Given the description of an element on the screen output the (x, y) to click on. 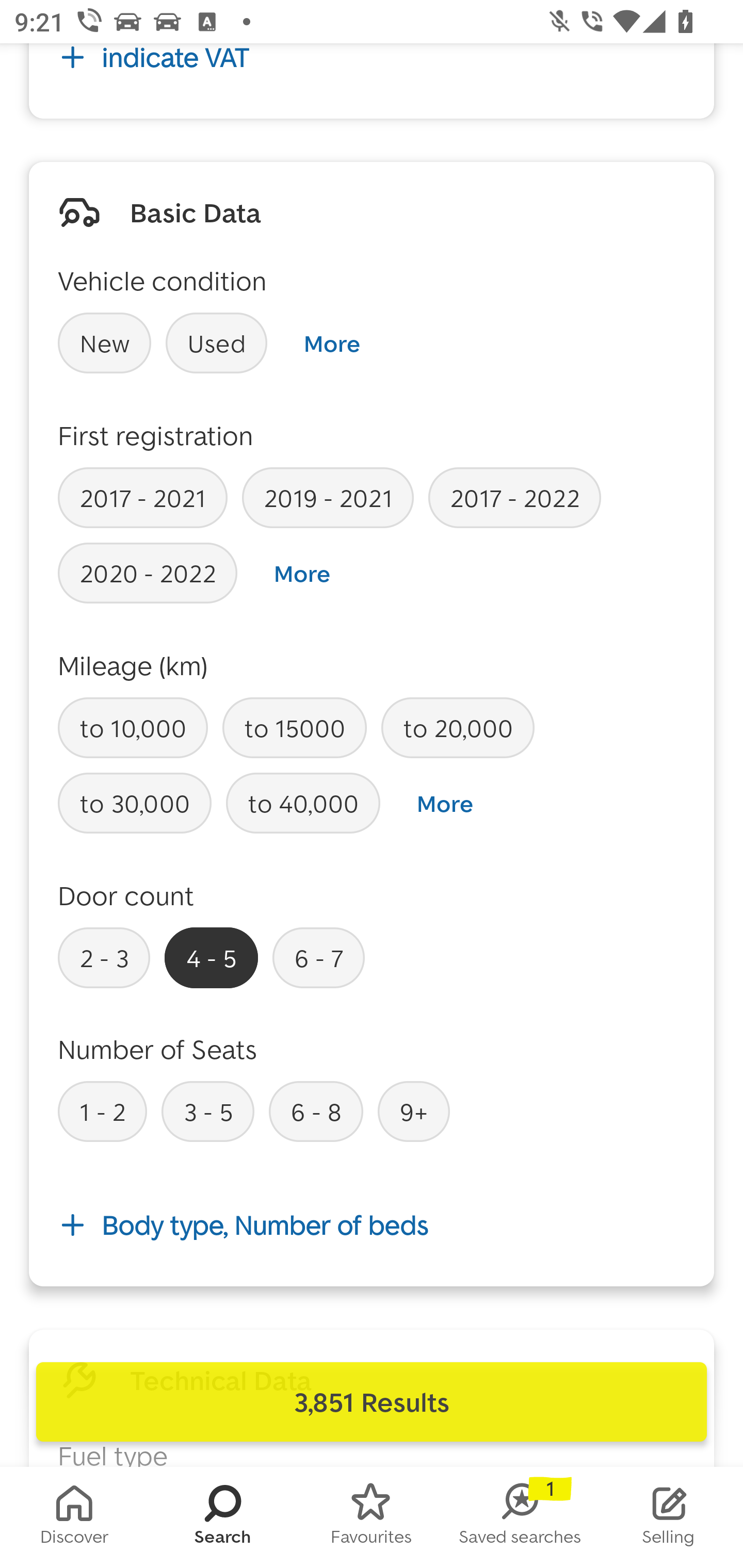
indicate VAT (371, 86)
Basic Data (195, 212)
Vehicle condition (161, 280)
New (103, 342)
Used (216, 342)
More (331, 343)
First registration (155, 435)
2017 - 2021 (142, 497)
2019 - 2021 (327, 497)
2017 - 2022 (514, 497)
2020 - 2022 (147, 572)
More (301, 573)
Mileage (km) (132, 665)
to 10,000 (132, 727)
to 15000 (294, 727)
to 20,000 (457, 727)
to 30,000 (134, 803)
to 40,000 (302, 803)
More (444, 803)
Door count (125, 895)
2 - 3 (103, 956)
4 - 5 (210, 956)
6 - 7 (318, 956)
Number of Seats (157, 1048)
1 - 2 (102, 1110)
3 - 5 (207, 1110)
6 - 8 (315, 1110)
9+ (413, 1110)
Body type, Number of beds (371, 1225)
3,851 Results (371, 1401)
HOMESCREEN Discover (74, 1517)
SEARCH Search (222, 1517)
FAVORITES Favourites (371, 1517)
SAVED_SEARCHES Saved searches 1 (519, 1517)
STOCK_LIST Selling (668, 1517)
